Given the description of an element on the screen output the (x, y) to click on. 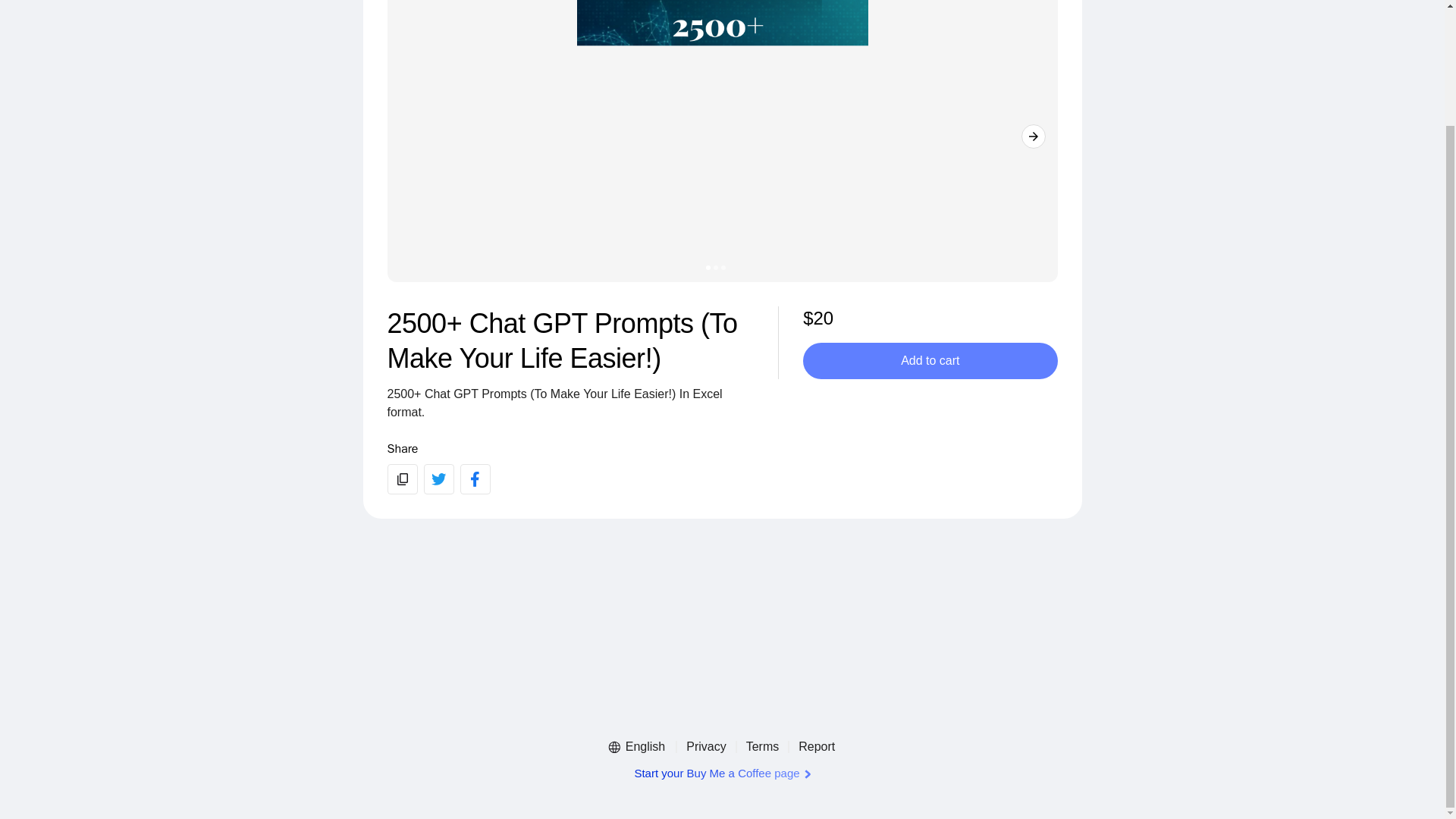
Report (816, 746)
Add to cart (930, 360)
Start your Buy Me a Coffee page (721, 773)
Privacy (705, 746)
Terms (762, 746)
